Given the description of an element on the screen output the (x, y) to click on. 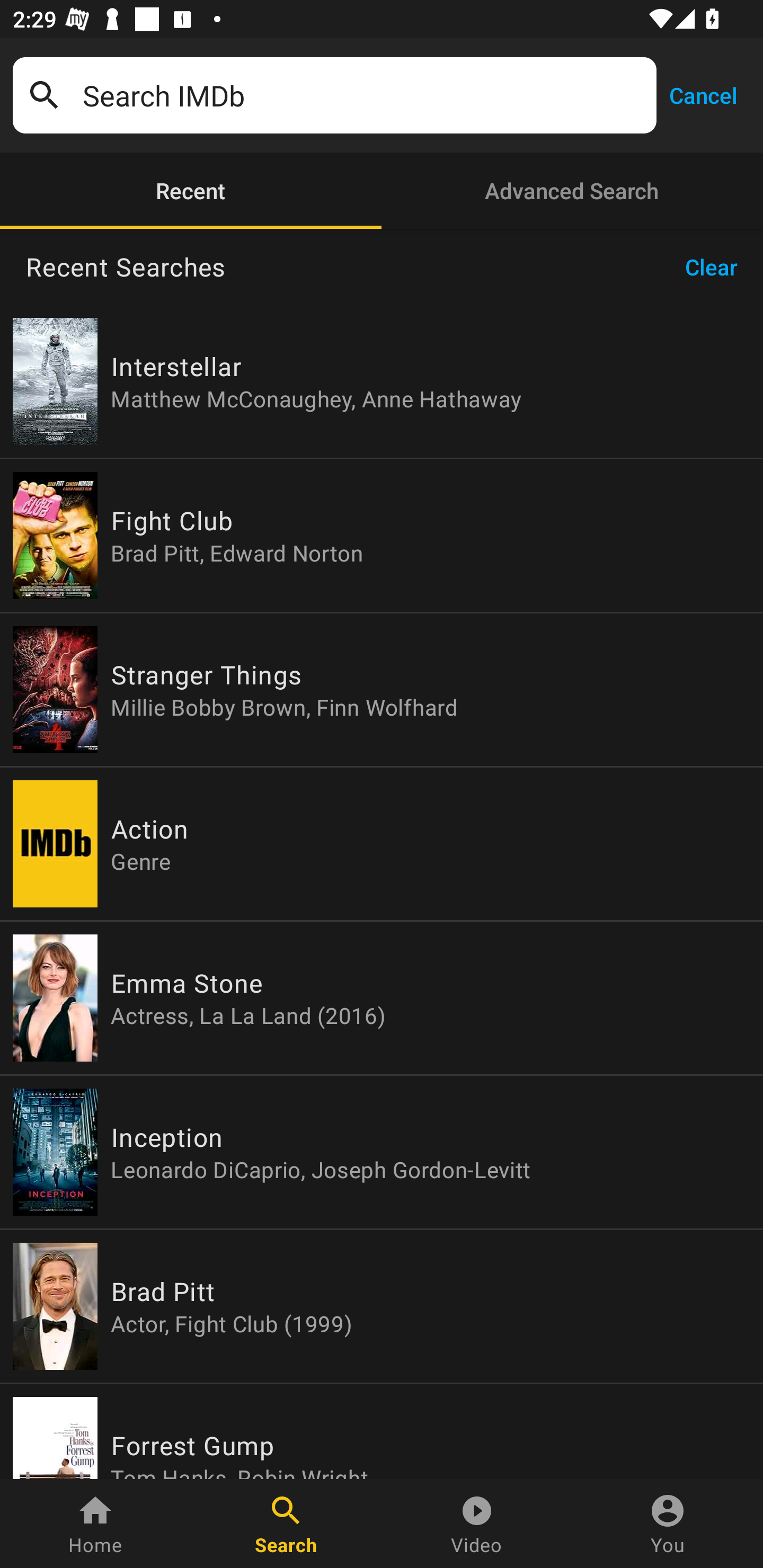
Cancel (703, 94)
Search IMDb (363, 95)
Advanced Search (572, 190)
Clear (717, 266)
Interstellar Matthew McConaughey, Anne Hathaway (381, 381)
Fight Club Brad Pitt, Edward Norton (381, 535)
Stranger Things Millie Bobby Brown, Finn Wolfhard (381, 689)
Action Genre (381, 844)
Emma Stone Actress, La La Land (2016) (381, 997)
Inception Leonardo DiCaprio, Joseph Gordon-Levitt (381, 1151)
Brad Pitt Actor, Fight Club (1999) (381, 1305)
Forrest Gump Tom Hanks, Robin Wright (381, 1431)
Home (95, 1523)
Video (476, 1523)
You (667, 1523)
